Given the description of an element on the screen output the (x, y) to click on. 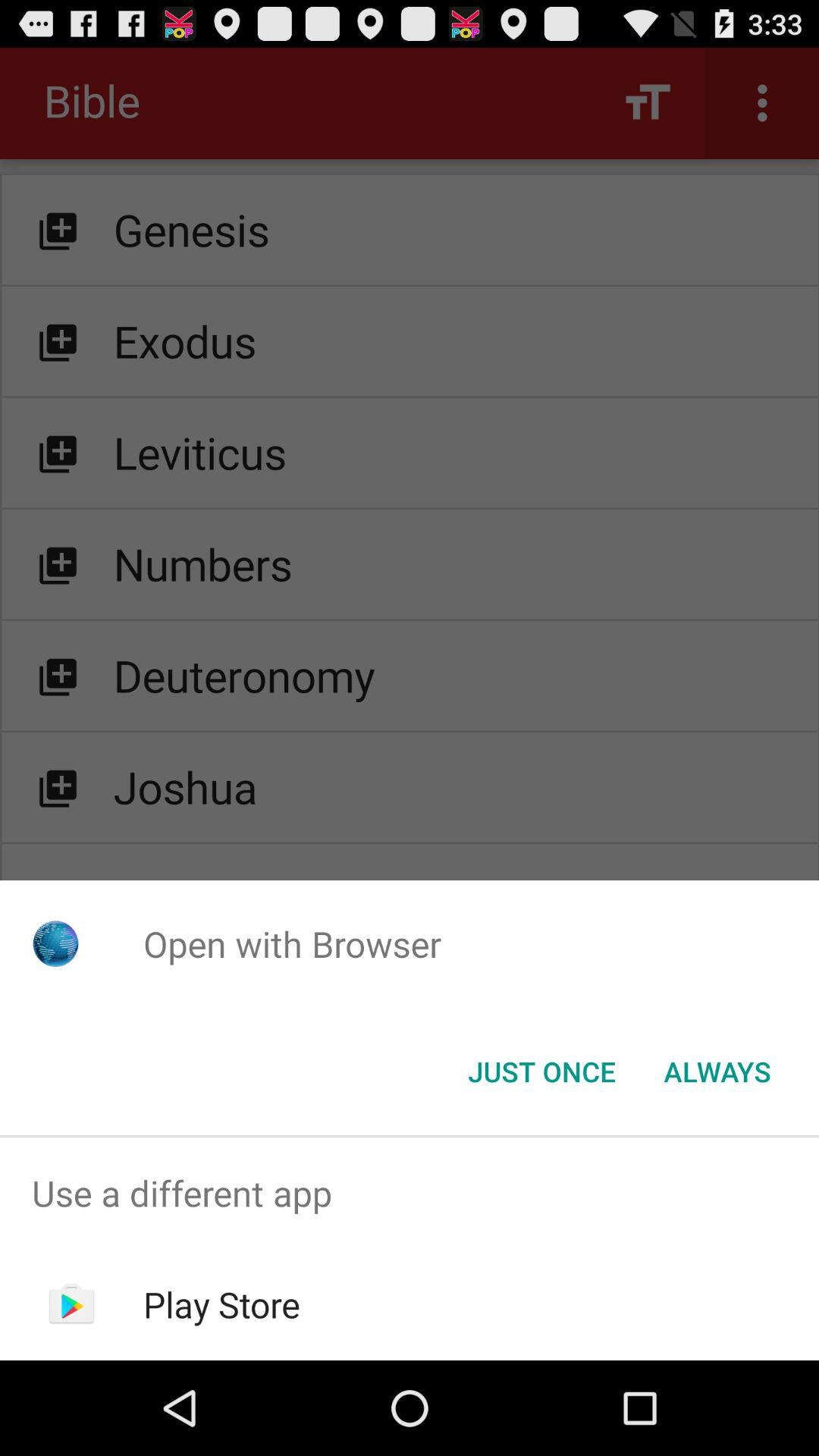
choose item below open with browser (717, 1071)
